Given the description of an element on the screen output the (x, y) to click on. 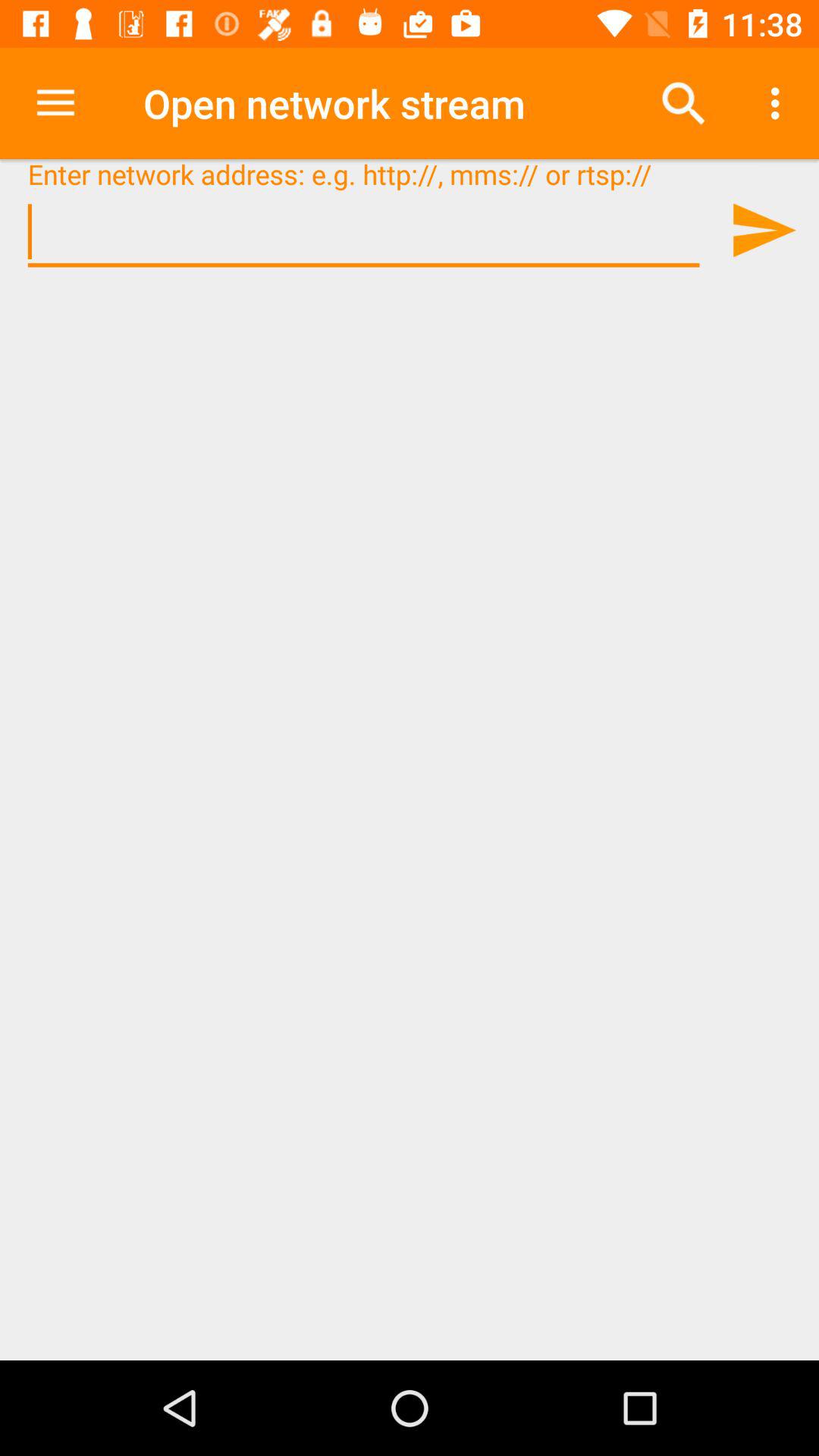
enter text (363, 232)
